Given the description of an element on the screen output the (x, y) to click on. 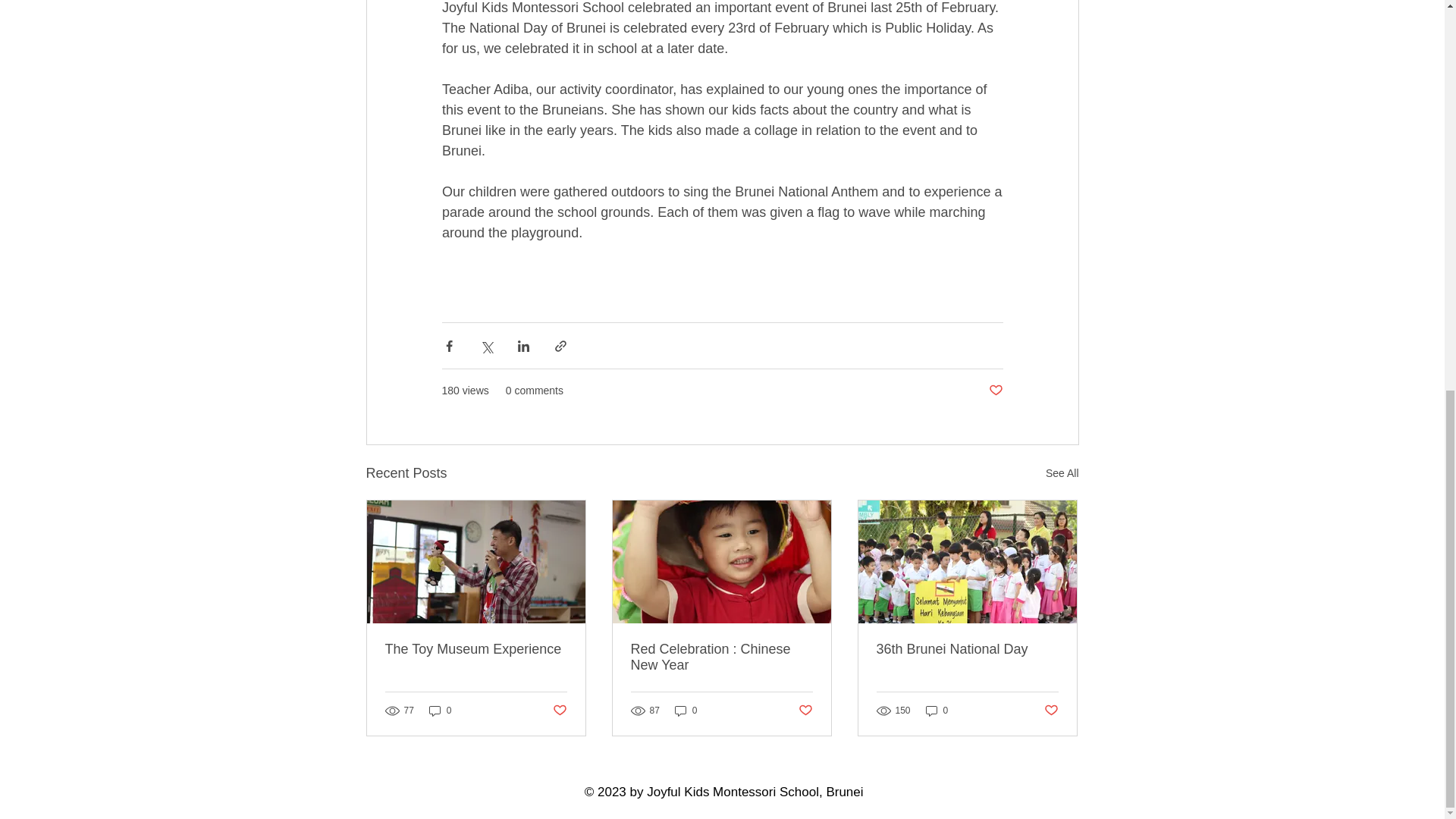
Red Celebration : Chinese New Year (721, 657)
0 (937, 710)
See All (1061, 473)
Post not marked as liked (804, 710)
Post not marked as liked (558, 710)
0 (440, 710)
36th Brunei National Day (967, 649)
0 (685, 710)
The Toy Museum Experience (476, 649)
Post not marked as liked (995, 390)
